Given the description of an element on the screen output the (x, y) to click on. 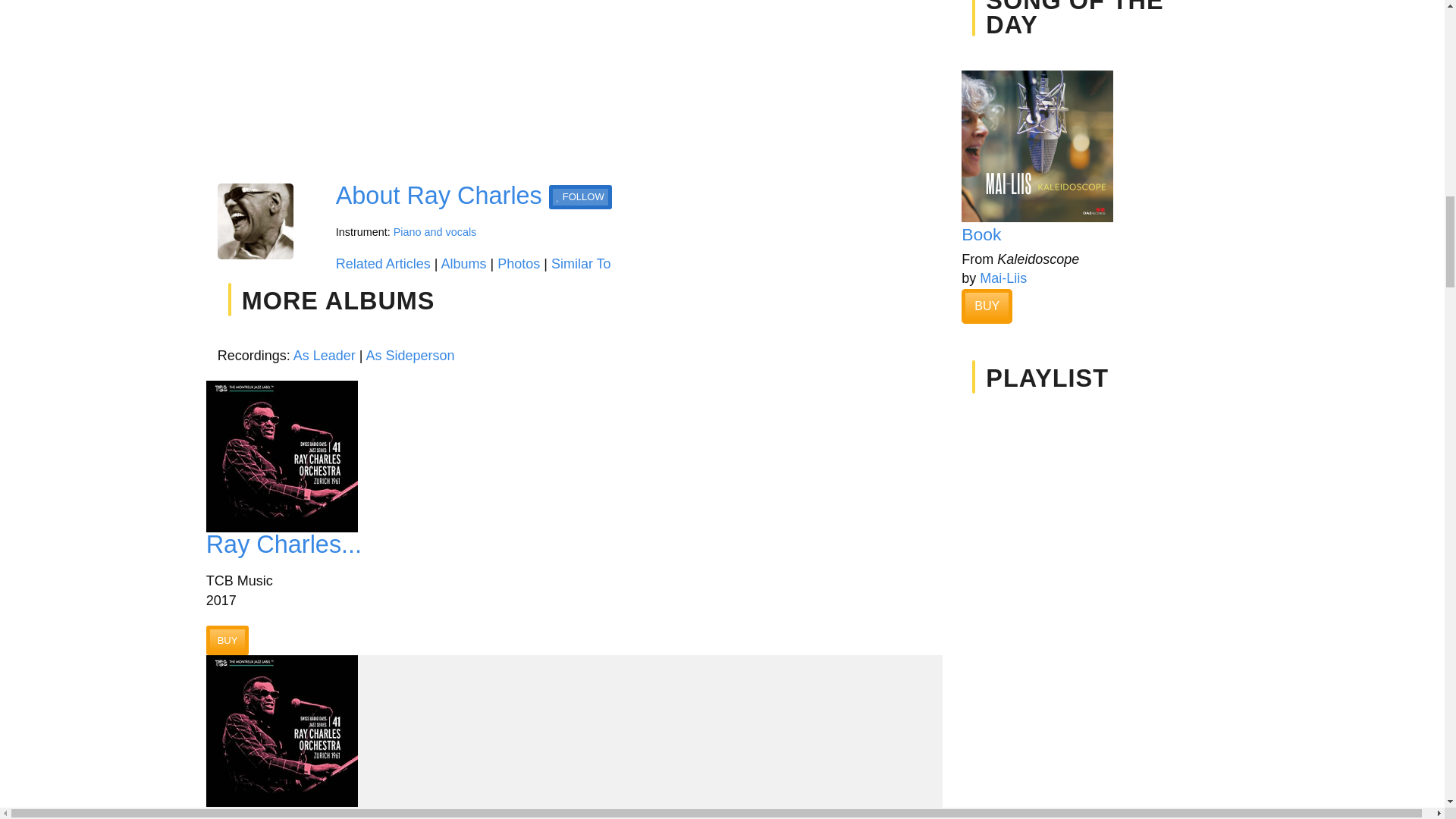
Follow (579, 197)
FOLLOW (579, 197)
View Ray Charles Page at All About Jazz (438, 195)
Piano and vocals (435, 232)
About Ray Charles (438, 195)
